Given the description of an element on the screen output the (x, y) to click on. 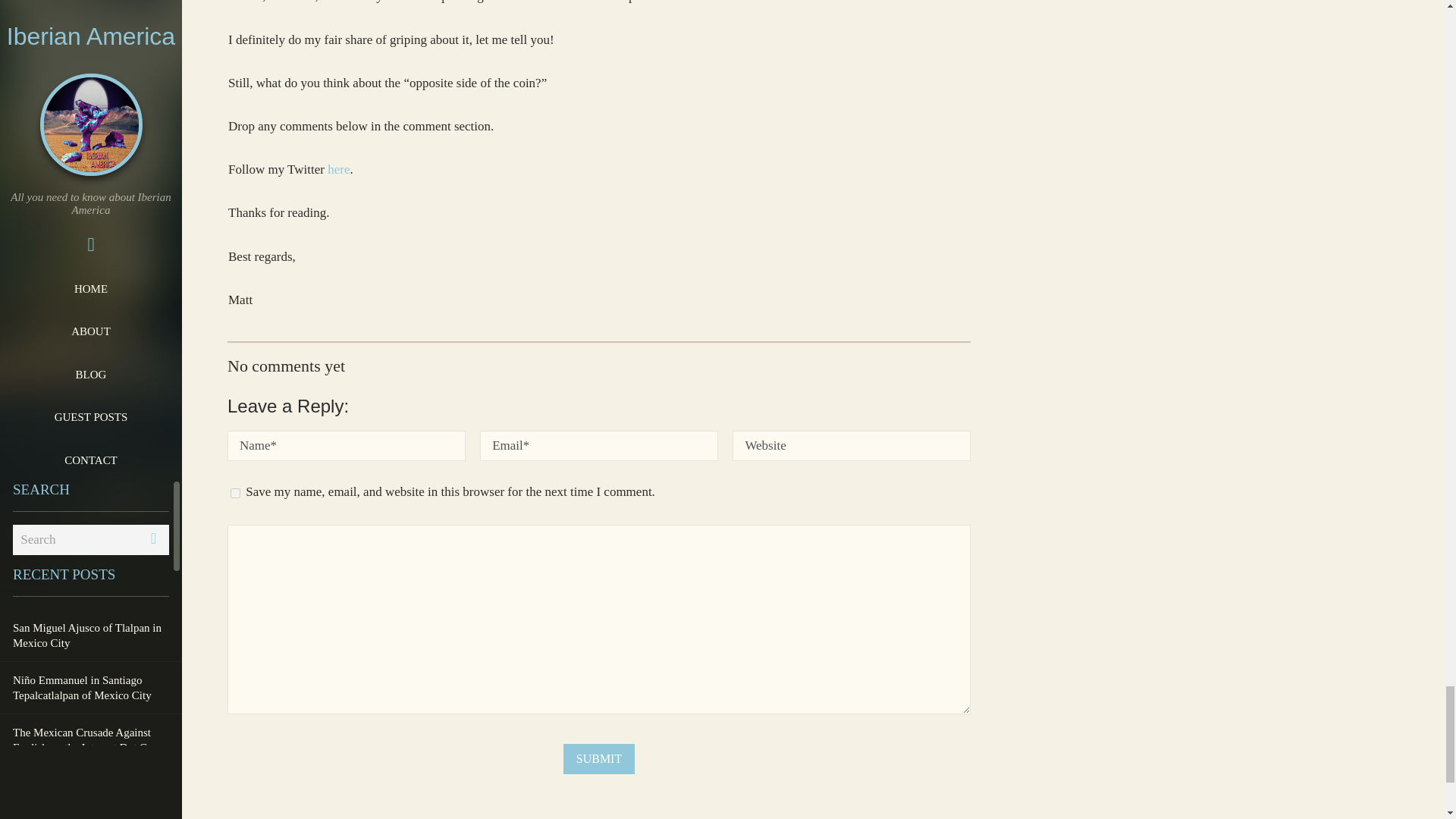
yes (235, 492)
SUBMIT (598, 758)
here (338, 169)
SUBMIT (598, 758)
